Given the description of an element on the screen output the (x, y) to click on. 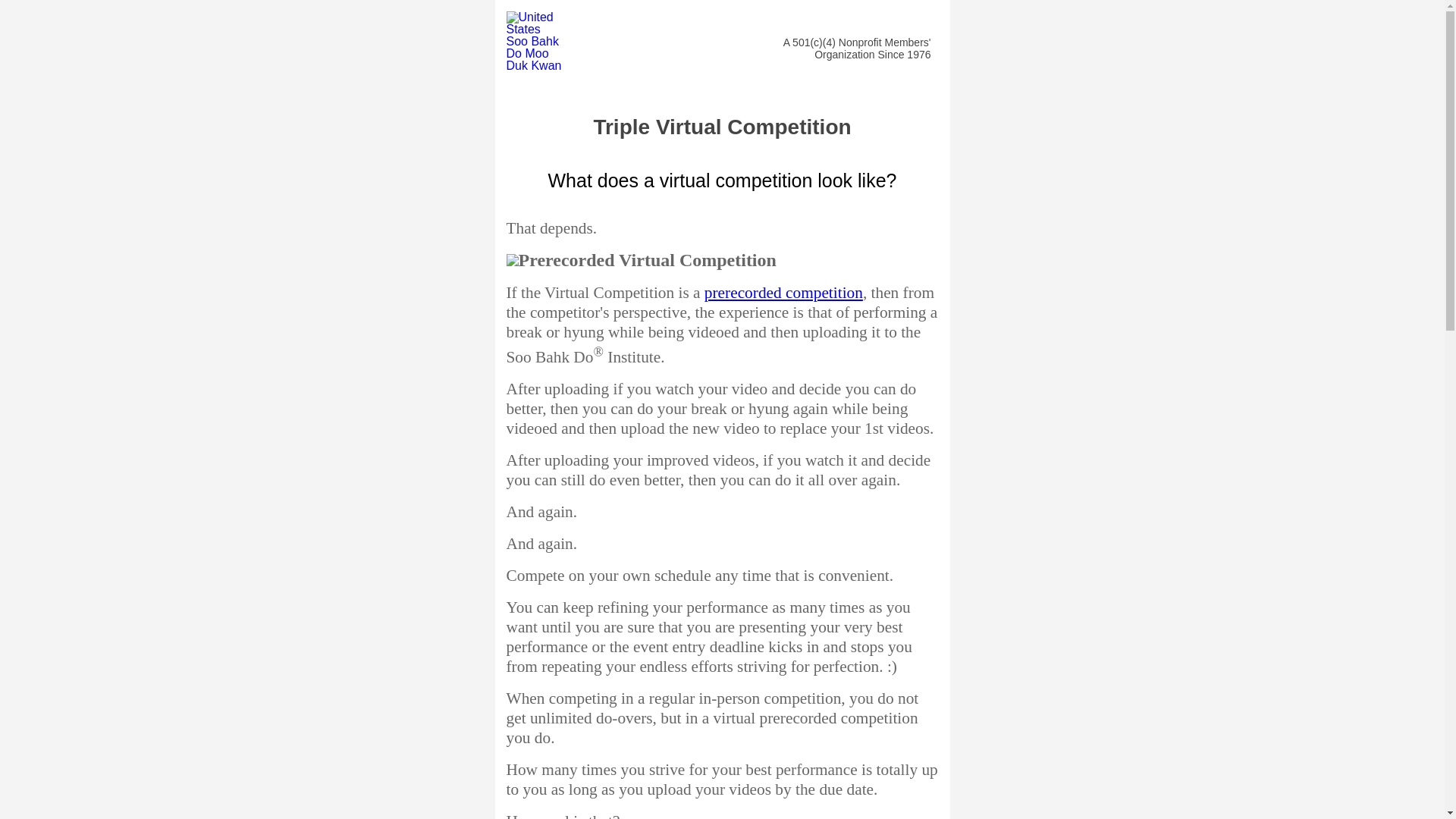
prerecorded competition (783, 292)
